Given the description of an element on the screen output the (x, y) to click on. 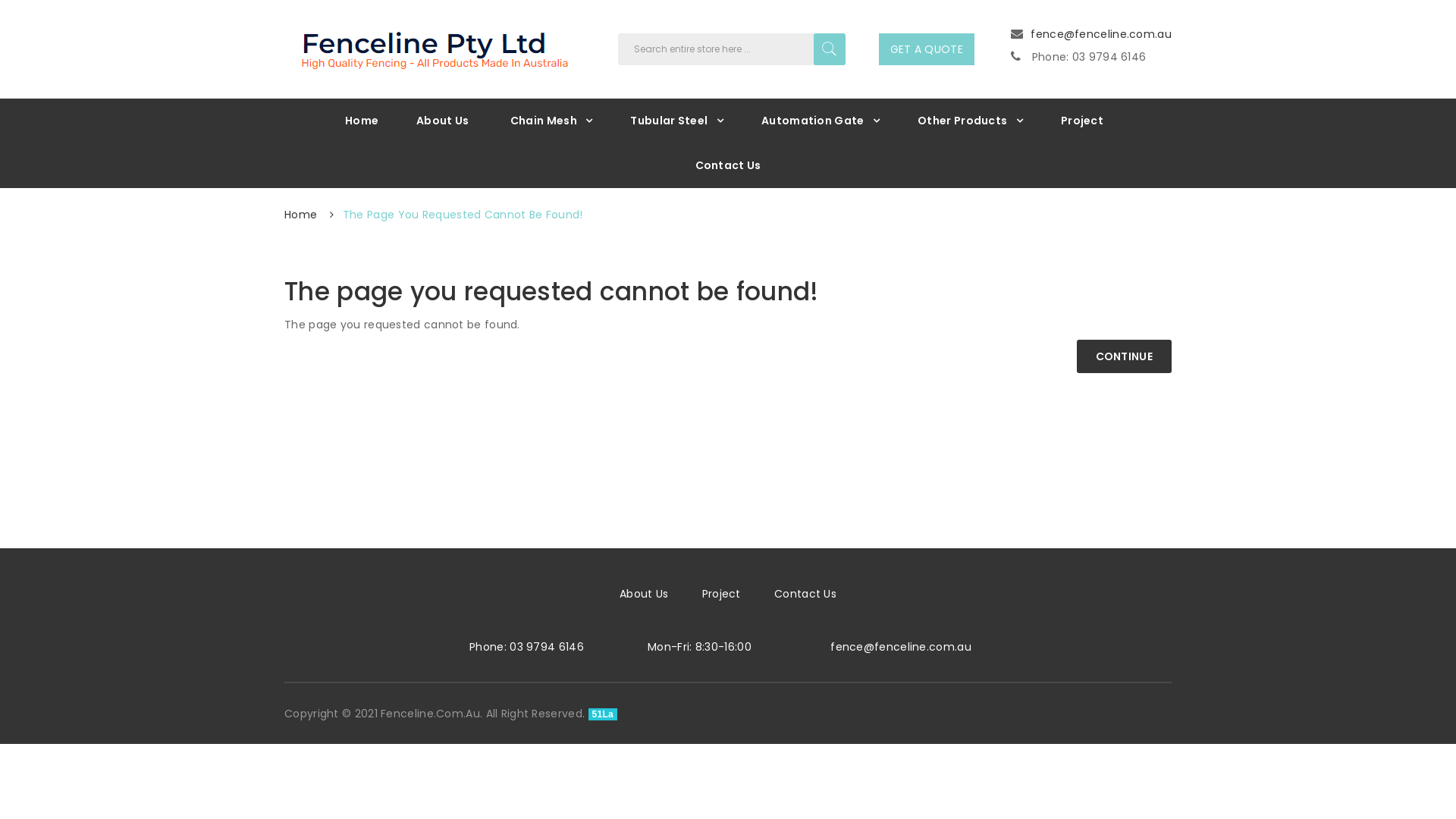
Home Element type: text (300, 214)
Fenceline.com.au Element type: hover (431, 47)
GET A QUOTE Element type: text (926, 49)
Contact Us Element type: text (727, 165)
Home Element type: text (361, 120)
Automation Gate Element type: text (820, 120)
Project Element type: text (1081, 120)
Chain Mesh Element type: text (551, 120)
Project Element type: text (721, 593)
fence@fenceline.com.au Element type: text (1100, 33)
Contact Us Element type: text (805, 593)
About Us Element type: text (442, 120)
The Page You Requested Cannot Be Found! Element type: text (462, 214)
fence@fenceline.com.au Element type: text (900, 646)
Tubular Steel Element type: text (676, 120)
51La Element type: text (603, 713)
CONTINUE Element type: text (1123, 356)
About Us Element type: text (643, 593)
Other Products Element type: text (970, 120)
